Given the description of an element on the screen output the (x, y) to click on. 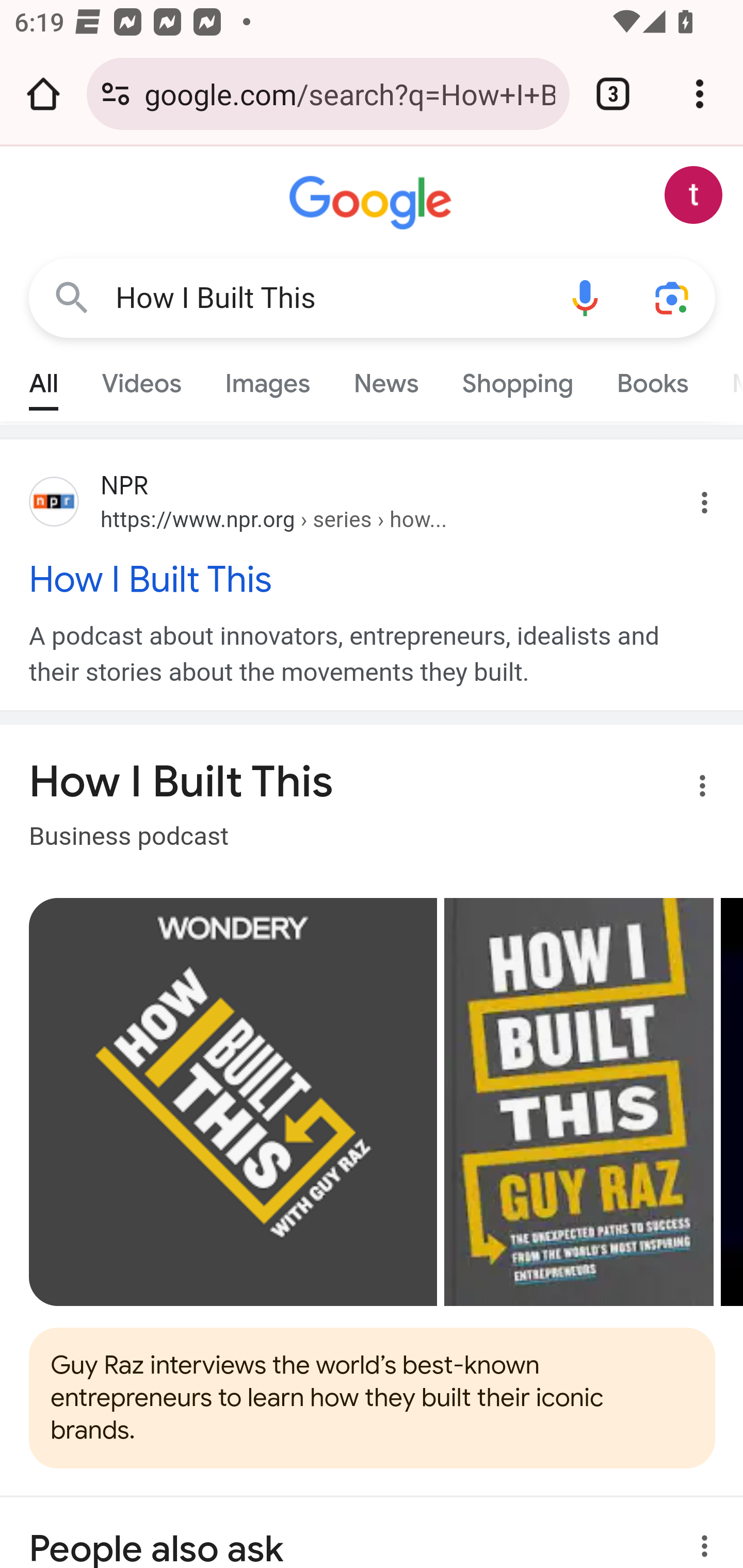
Open the home page (43, 93)
Connection is secure (115, 93)
Switch or close tabs (612, 93)
Customize and control Google Chrome (699, 93)
Google (372, 203)
Google Search (71, 296)
Search using your camera or photos (672, 296)
How I Built This (328, 297)
Videos (141, 378)
Images (267, 378)
News (385, 378)
Shopping (516, 378)
Books (652, 378)
How I Built This (372, 579)
More options (690, 790)
How I Built This with Guy Raz - Wondery (233, 1101)
About this result (698, 1531)
